Given the description of an element on the screen output the (x, y) to click on. 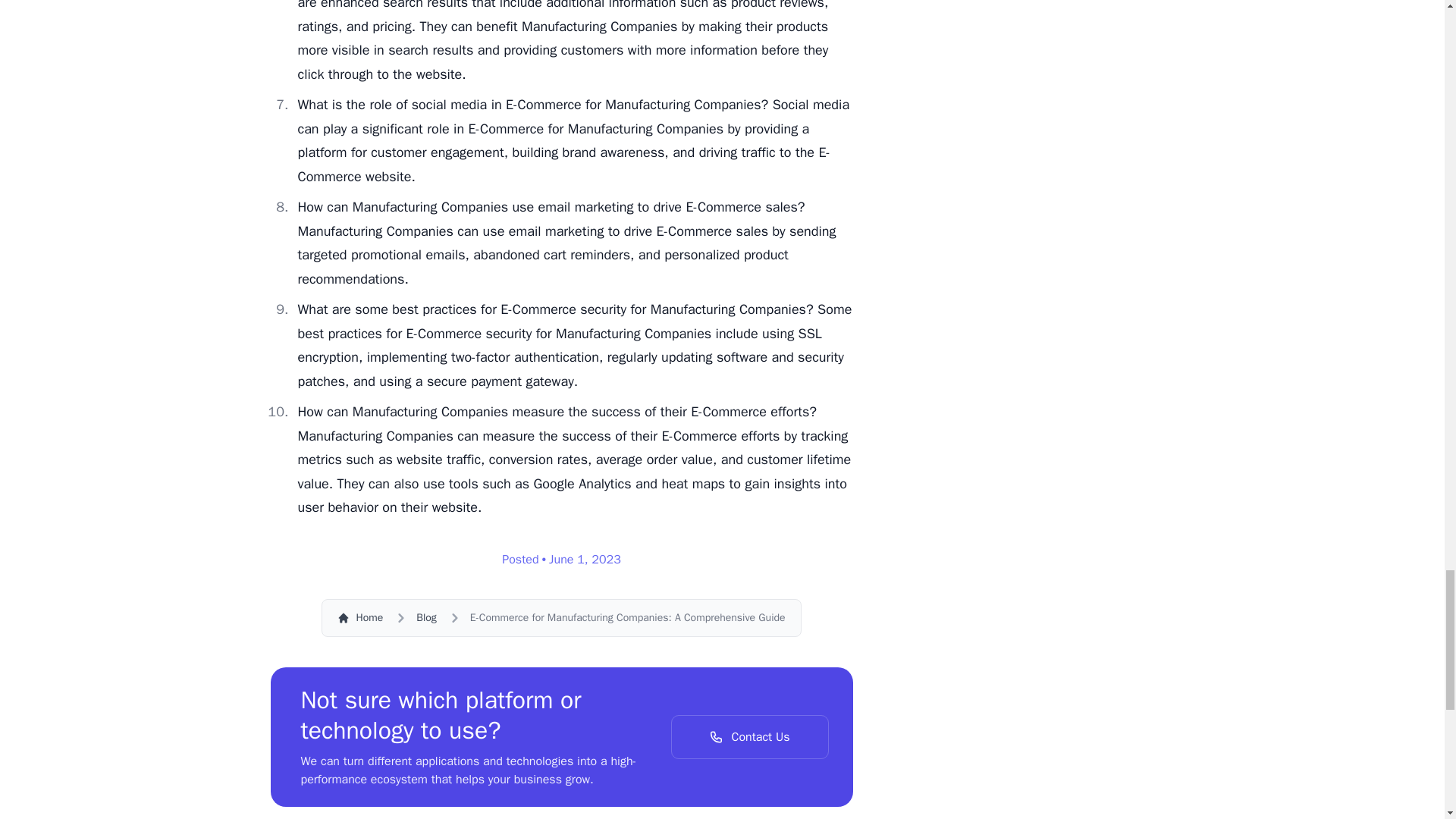
Home (359, 617)
Blog (426, 617)
back to Home (359, 617)
Contact Us (748, 736)
